Given the description of an element on the screen output the (x, y) to click on. 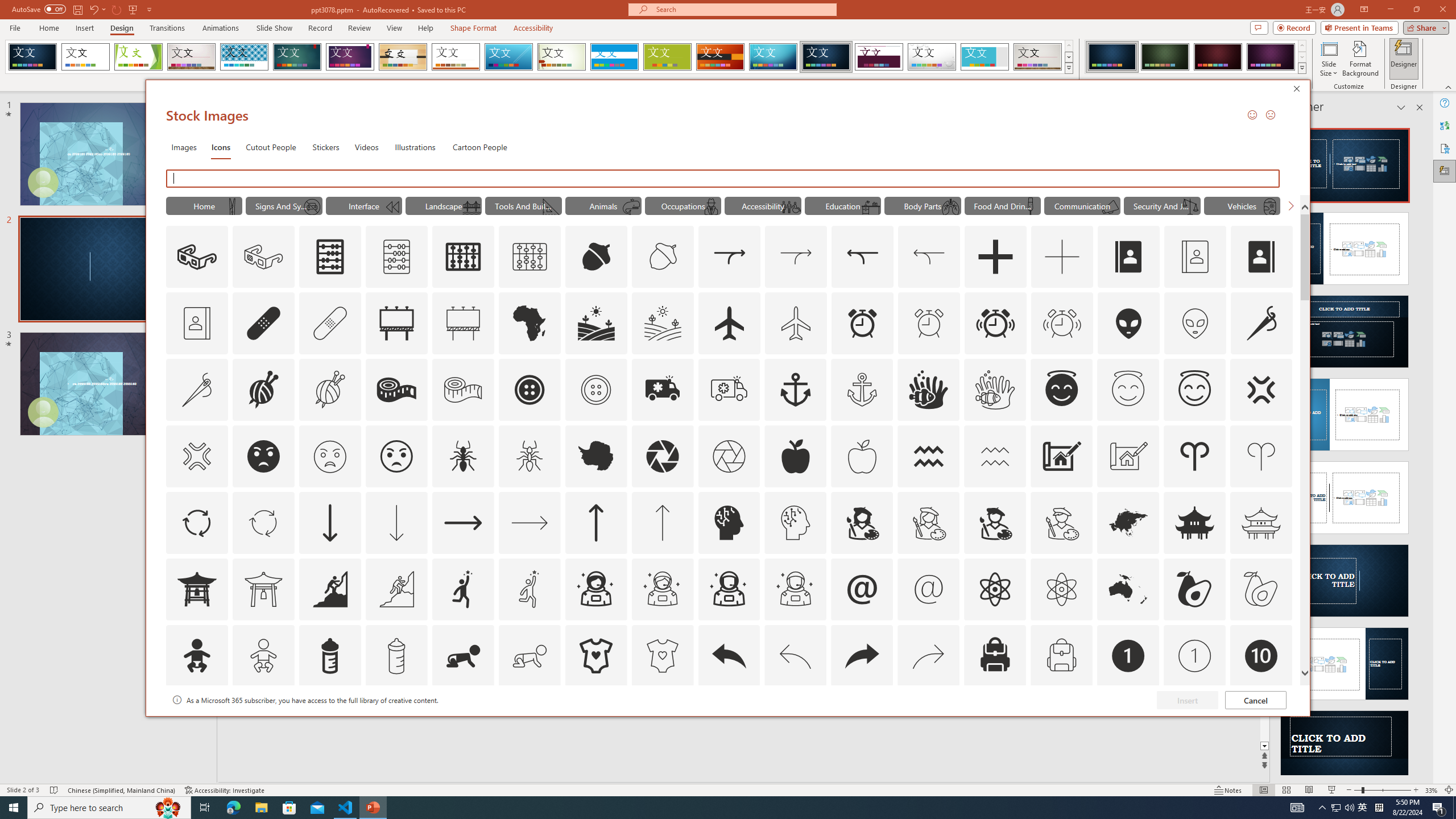
AutomationID: Icons_Back_RTL (861, 655)
Wisp (561, 56)
AutomationID: Icons_Abacus1_M (529, 256)
AutomationID: SlideThemesGallery (539, 56)
"Animals" Icons. (603, 205)
Stickers (326, 146)
AutomationID: Icons_Badge4_M (595, 721)
AutomationID: Icons_AsianTemple1 (196, 588)
AutomationID: Icons_ArrowRight_M (529, 522)
